Given the description of an element on the screen output the (x, y) to click on. 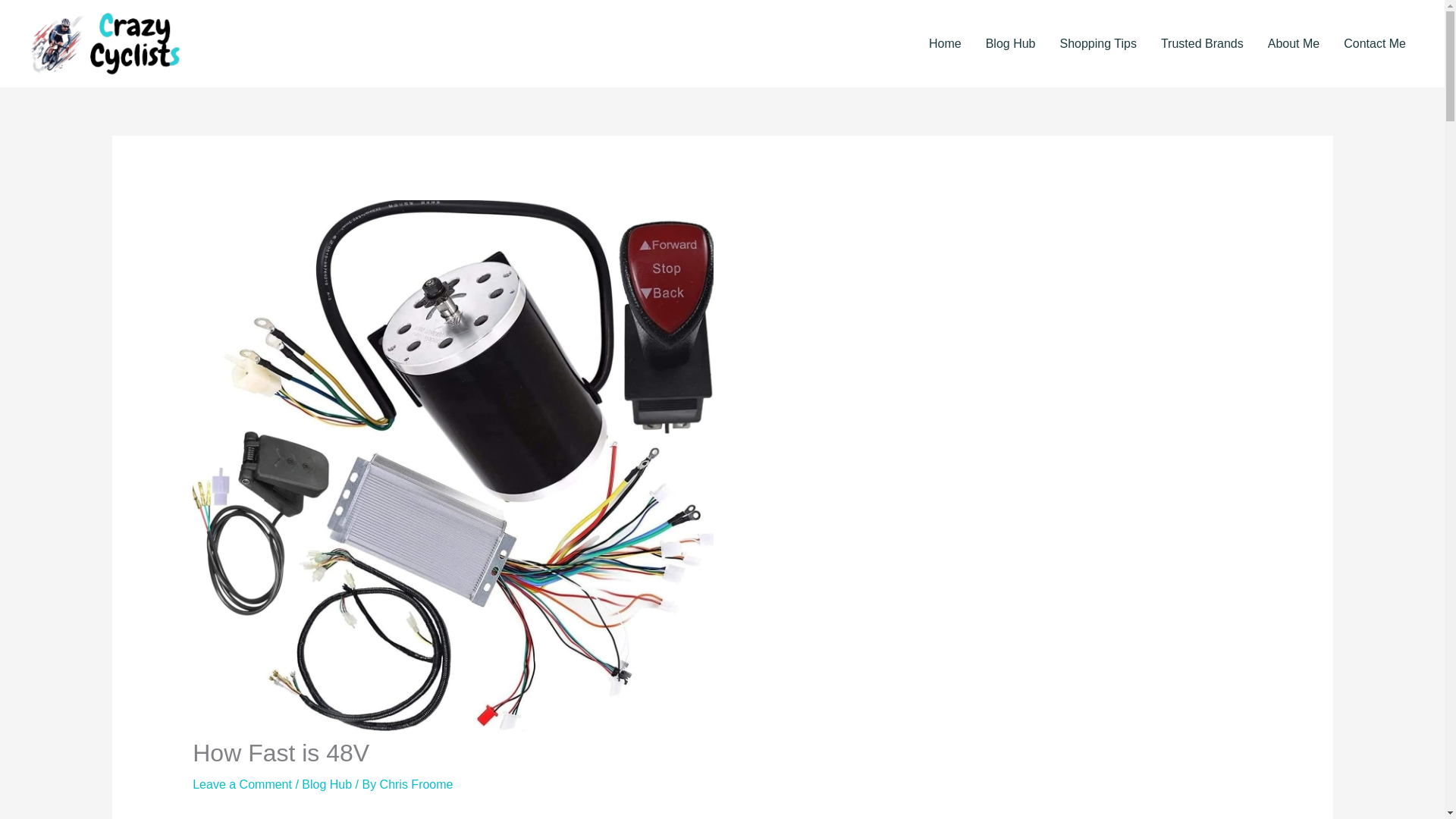
Trusted Brands (1201, 43)
Shopping Tips (1098, 43)
Blog Hub (1011, 43)
About Me (1293, 43)
Contact Me (1375, 43)
Leave a Comment (242, 784)
Blog Hub (326, 784)
View all posts by Chris Froome (416, 784)
Chris Froome (416, 784)
